Given the description of an element on the screen output the (x, y) to click on. 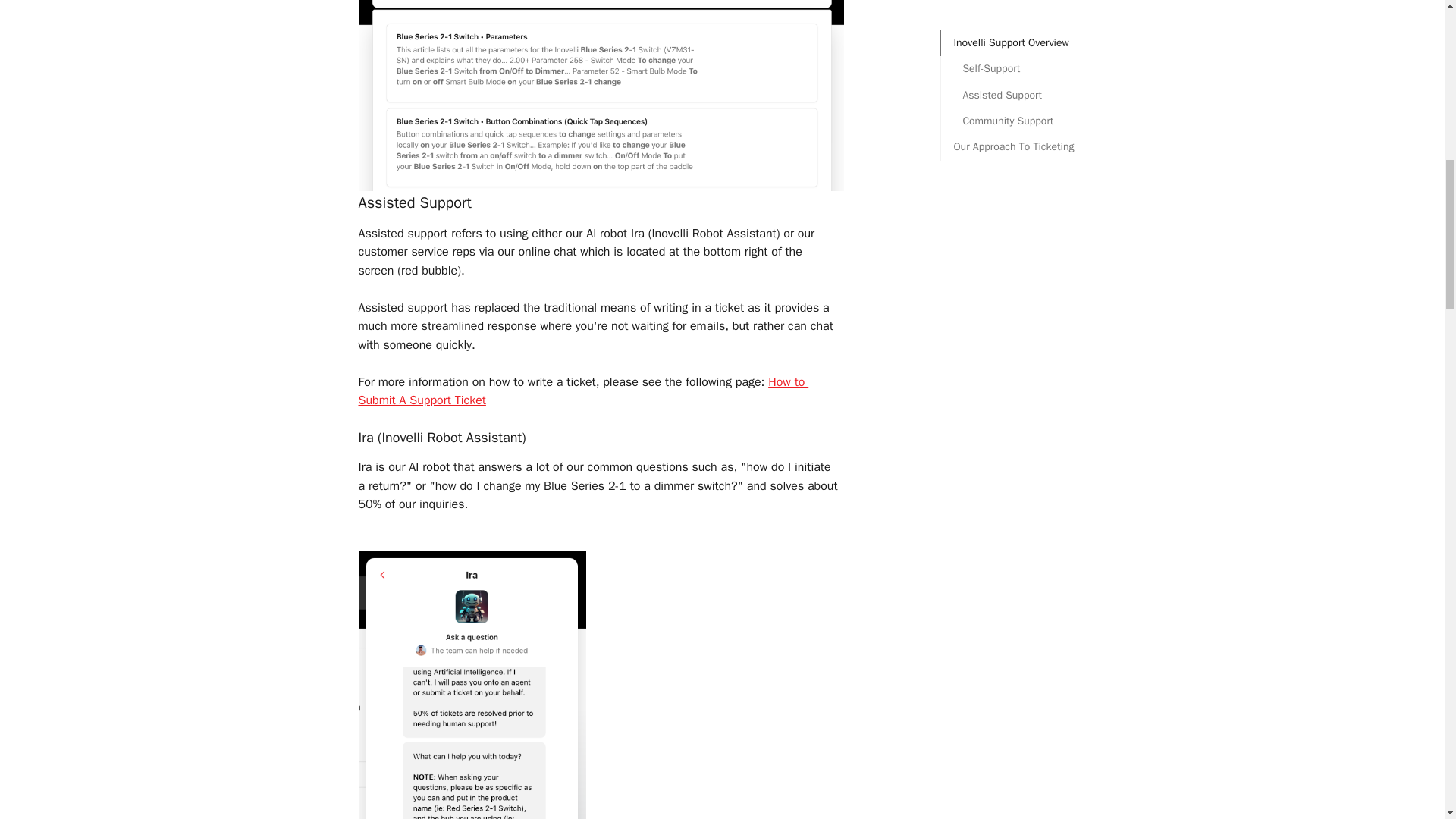
How to Submit A Support Ticket (583, 390)
